Given the description of an element on the screen output the (x, y) to click on. 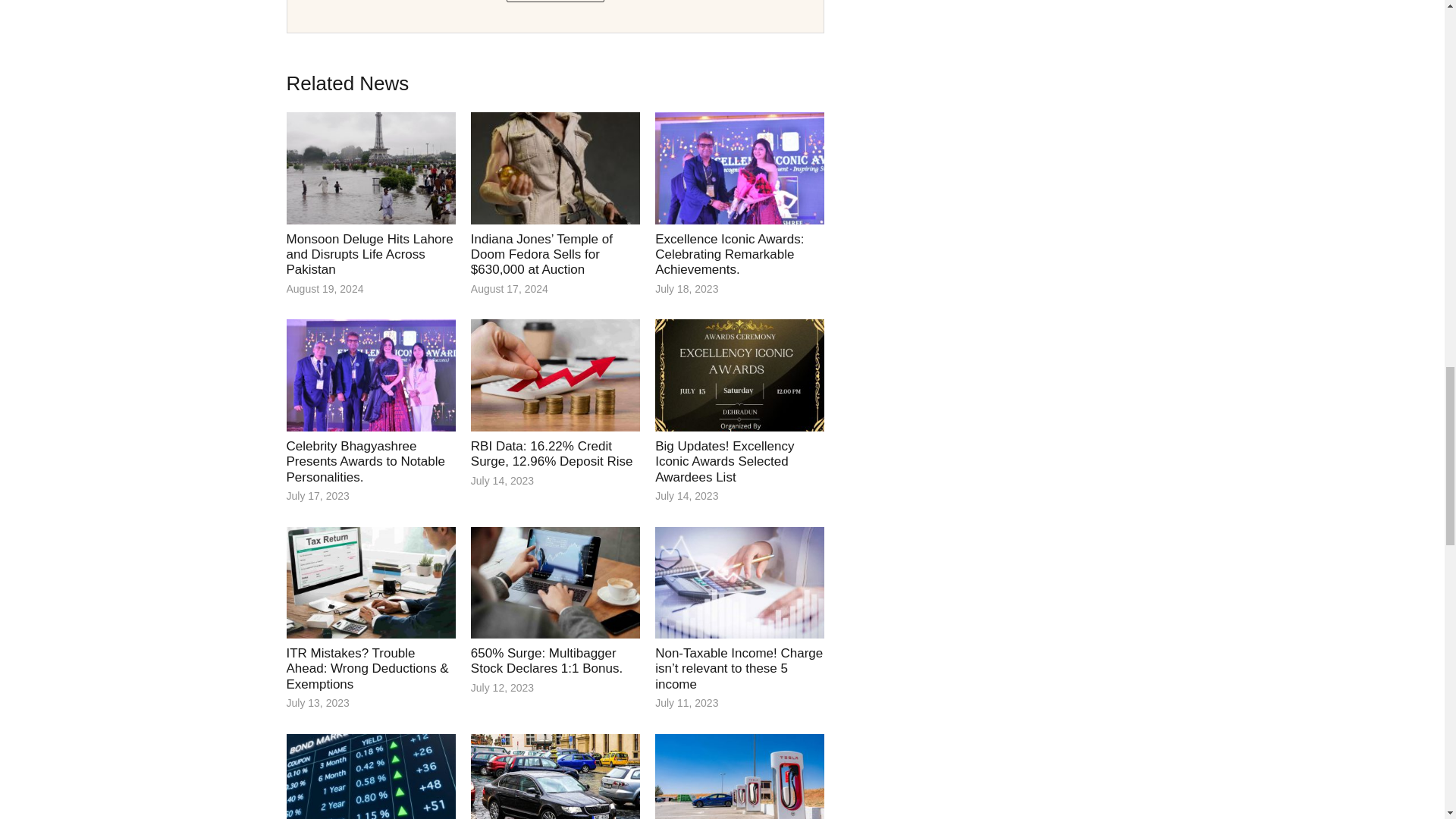
Monsoon Deluge Hits Lahore and Disrupts Life Across Pakistan (369, 254)
Big Updates! Excellency Iconic Awards Selected Awardees List (724, 461)
Author Posts (555, 1)
